Given the description of an element on the screen output the (x, y) to click on. 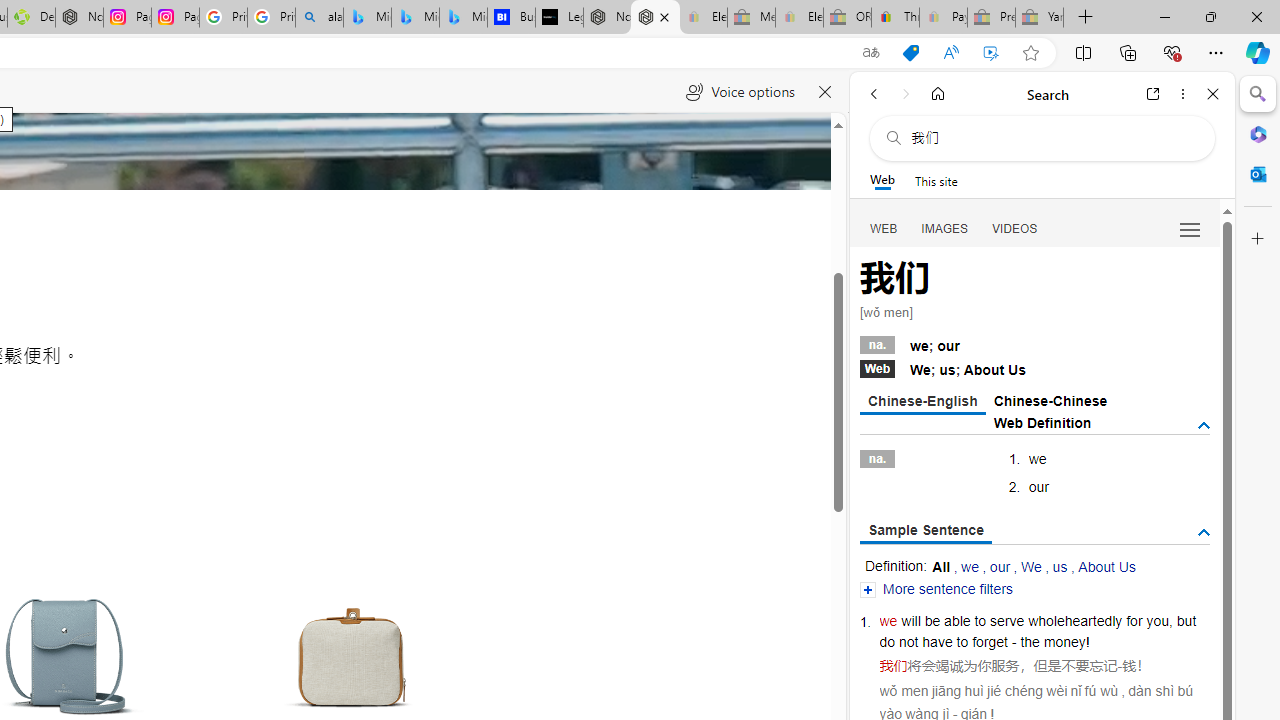
for (1134, 620)
Microsoft Bing Travel - Flights from Hong Kong to Bangkok (367, 17)
our (1000, 566)
Microsoft Bing Travel - Shangri-La Hotel Bangkok (463, 17)
Yard, Garden & Outdoor Living - Sleeping (1039, 17)
Payments Terms of Use | eBay.com - Sleeping (943, 17)
, (1170, 620)
wholeheartedly (1074, 620)
will (911, 620)
